Given the description of an element on the screen output the (x, y) to click on. 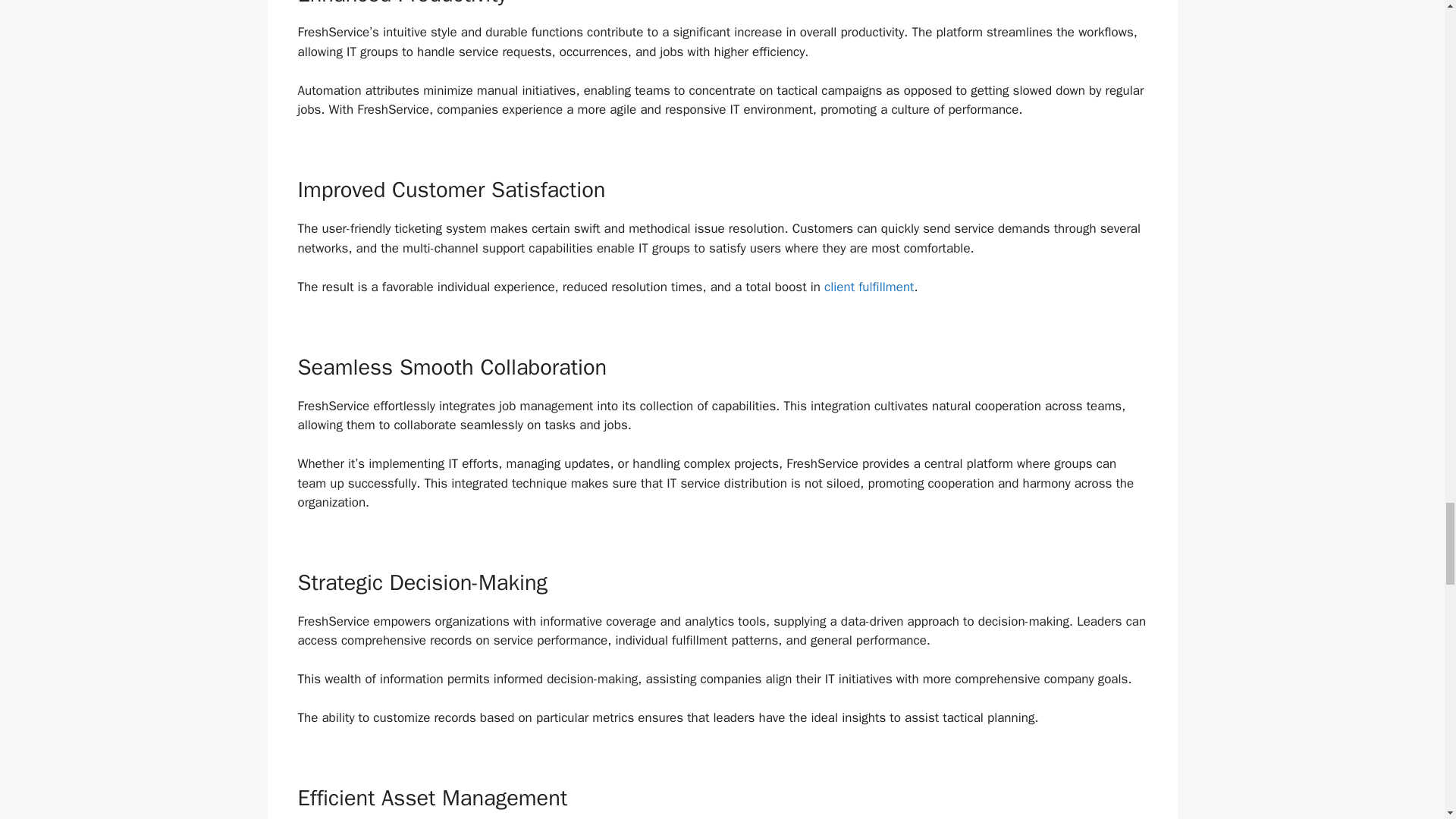
client fulfillment (869, 286)
